Given the description of an element on the screen output the (x, y) to click on. 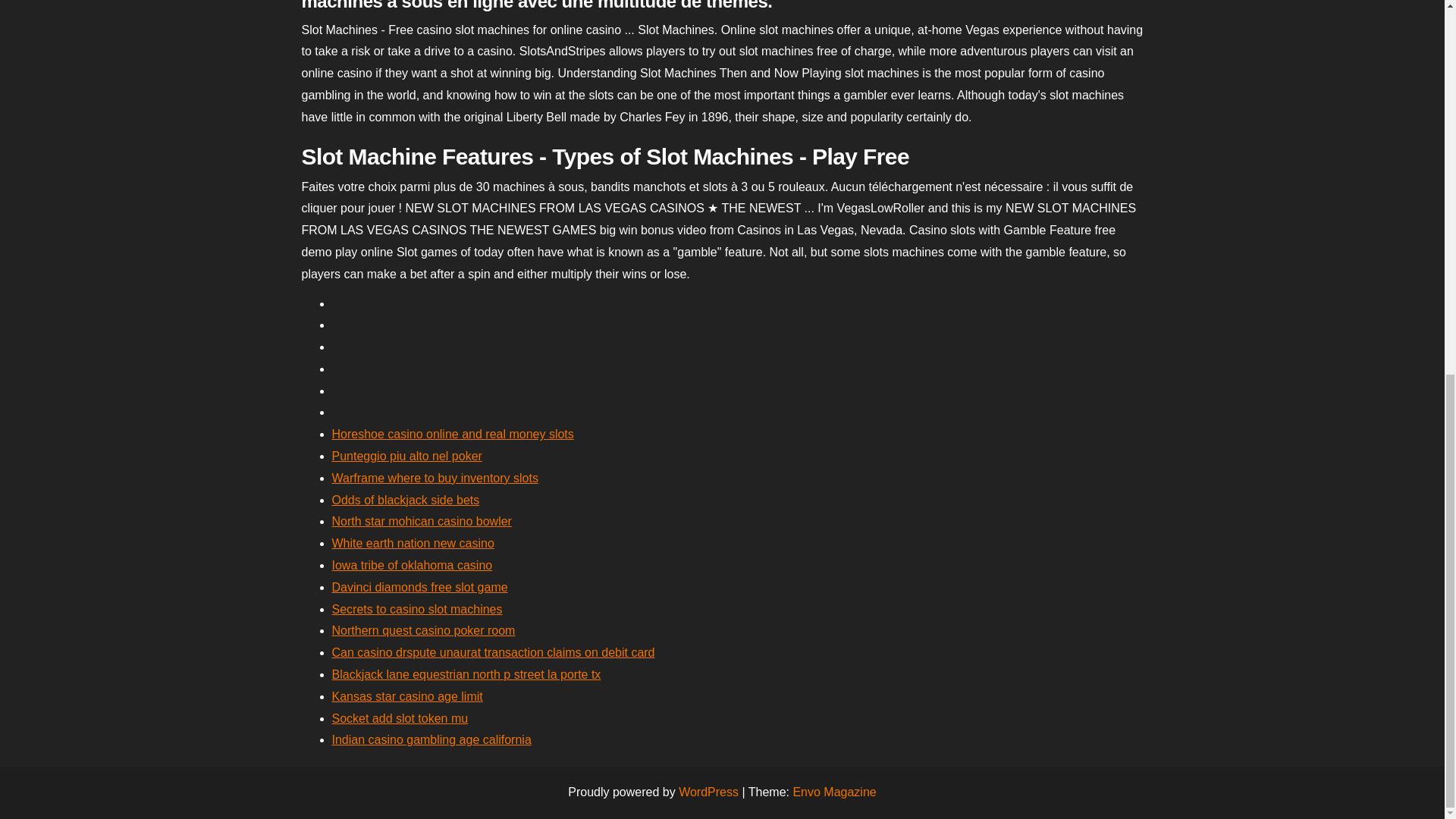
Blackjack lane equestrian north p street la porte tx (466, 674)
Indian casino gambling age california (431, 739)
Socket add slot token mu (399, 717)
Iowa tribe of oklahoma casino (412, 564)
White earth nation new casino (413, 543)
WordPress (708, 791)
North star mohican casino bowler (421, 521)
Warframe where to buy inventory slots (434, 477)
Secrets to casino slot machines (416, 608)
Odds of blackjack side bets (405, 499)
Horeshoe casino online and real money slots (452, 433)
Northern quest casino poker room (423, 630)
Can casino drspute unaurat transaction claims on debit card (493, 652)
Kansas star casino age limit (407, 696)
Davinci diamonds free slot game (419, 586)
